Given the description of an element on the screen output the (x, y) to click on. 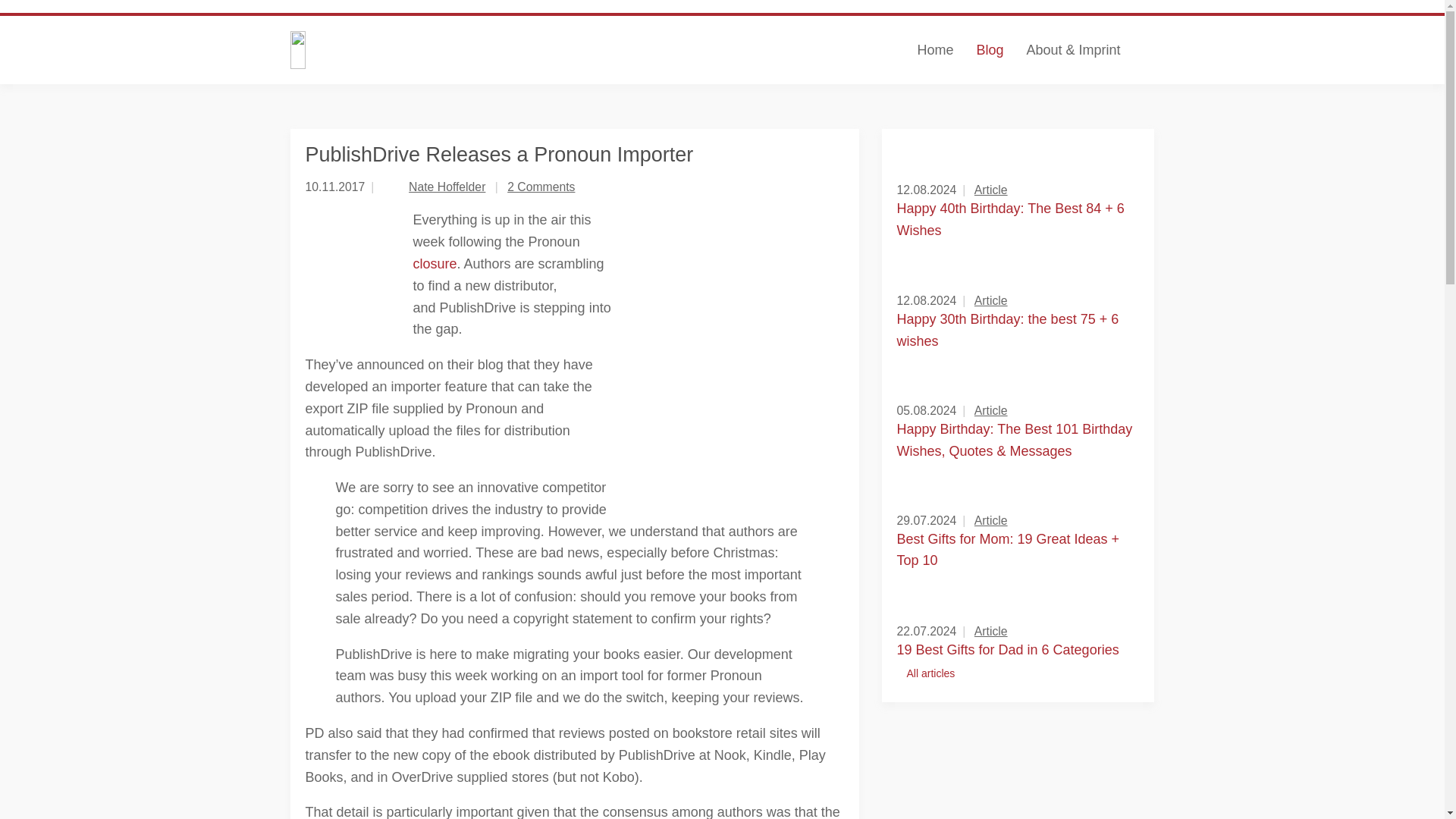
The Digital Reader (437, 49)
Blog (988, 49)
Article (990, 189)
Home (934, 49)
2 Comments (540, 186)
closure (434, 263)
Nate Hoffelder (446, 186)
Article (990, 410)
Article (990, 300)
Article (990, 520)
